Given the description of an element on the screen output the (x, y) to click on. 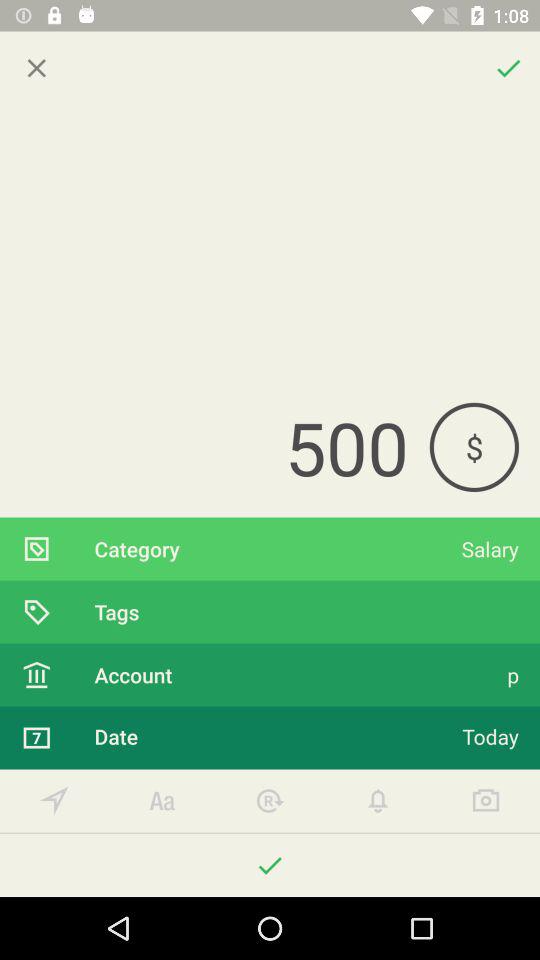
go to closed (36, 68)
